Given the description of an element on the screen output the (x, y) to click on. 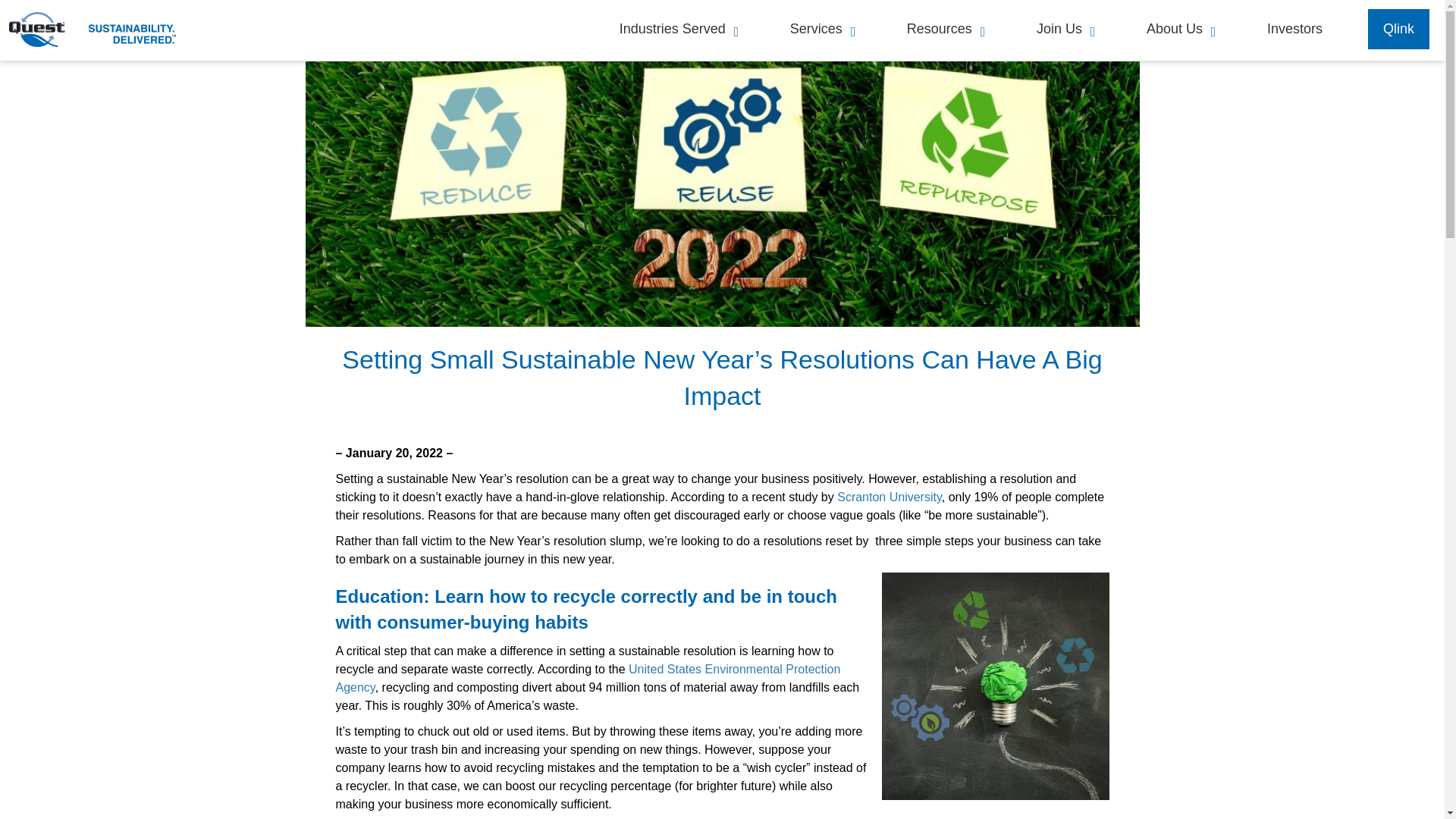
Services (817, 29)
QUEST Resource Management Group (106, 30)
Industries Served (674, 29)
